Given the description of an element on the screen output the (x, y) to click on. 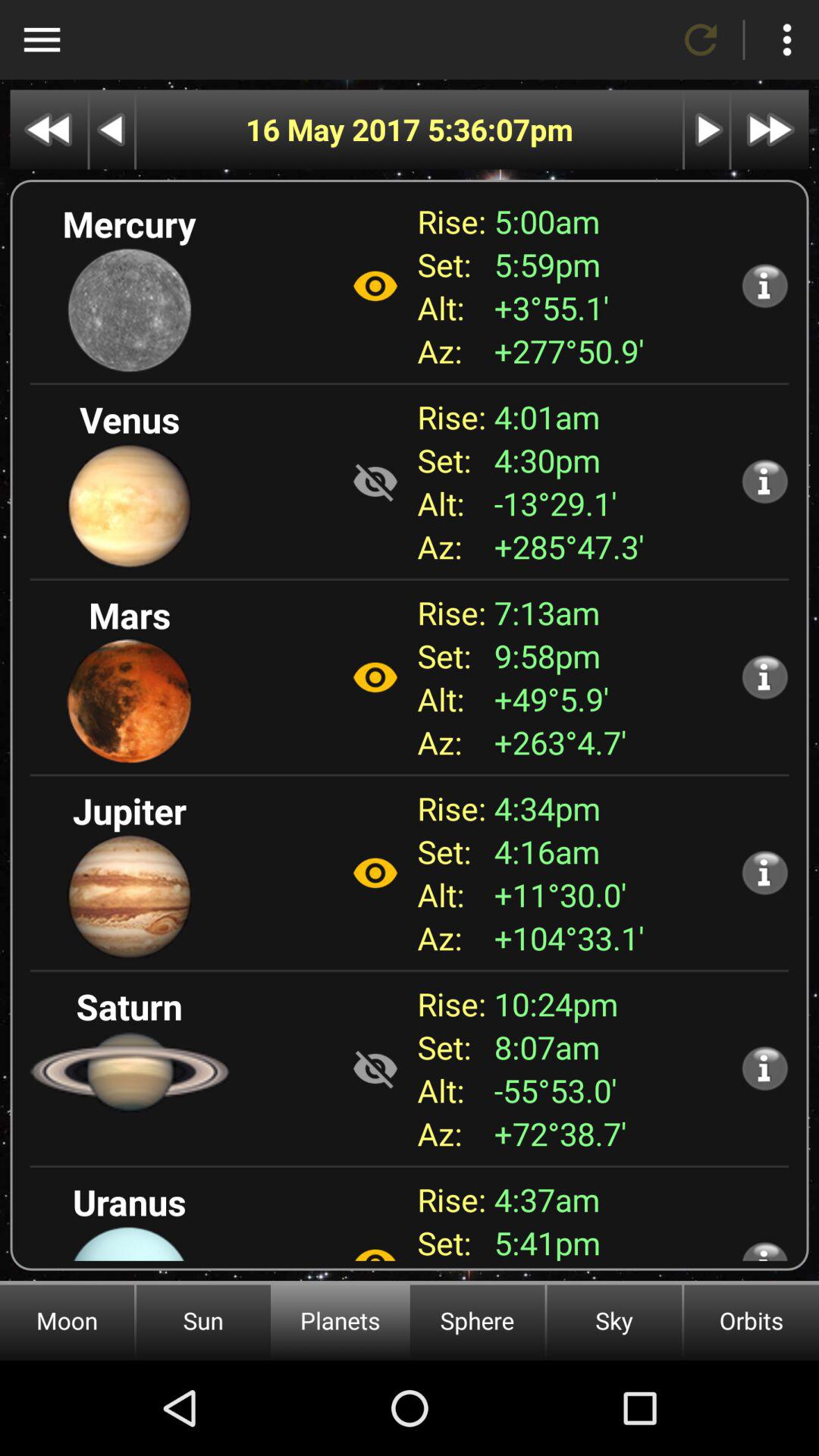
shows play icon (706, 129)
